Given the description of an element on the screen output the (x, y) to click on. 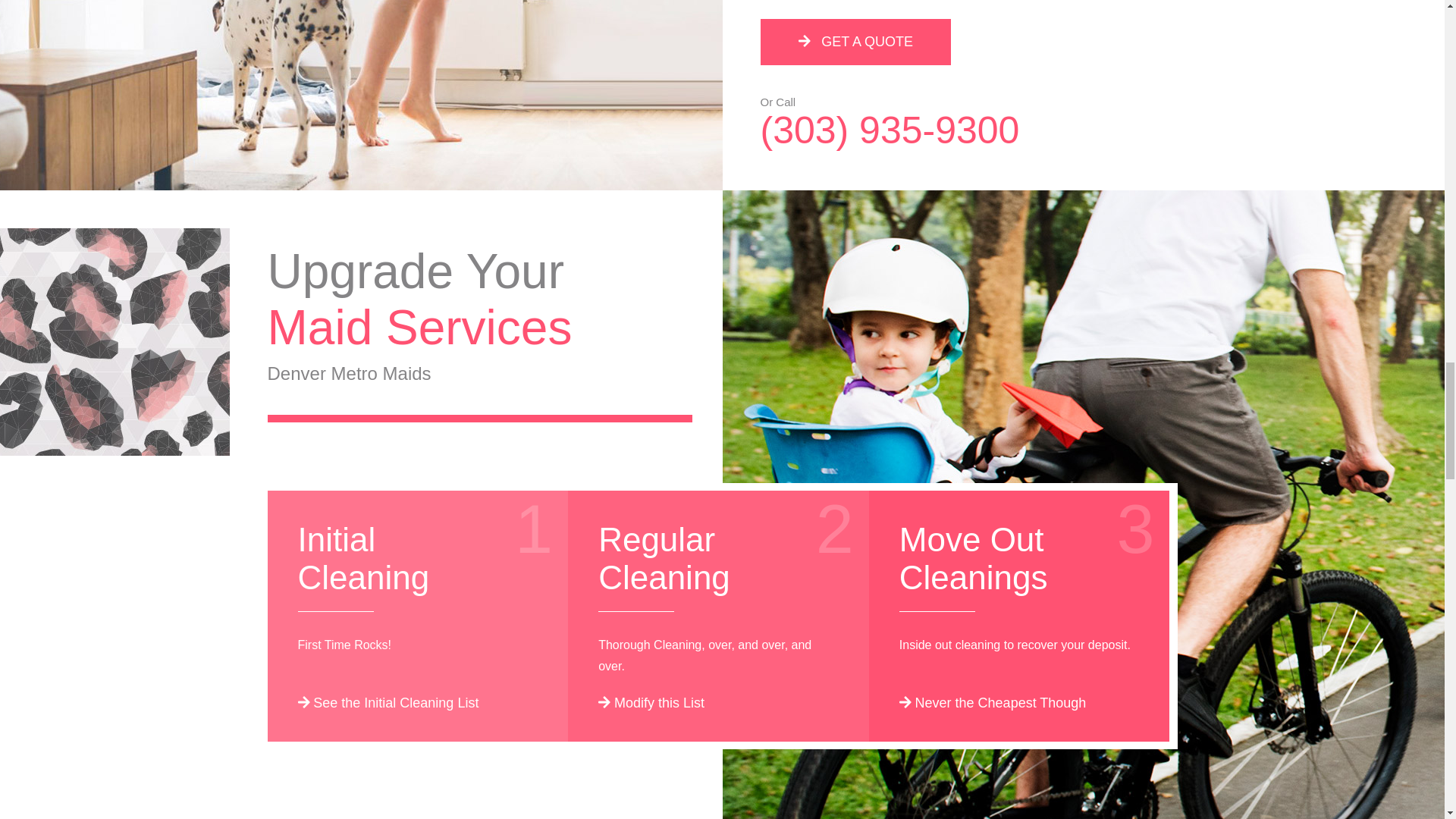
See the Initial Cleaning List (388, 702)
GET A QUOTE (855, 41)
